Given the description of an element on the screen output the (x, y) to click on. 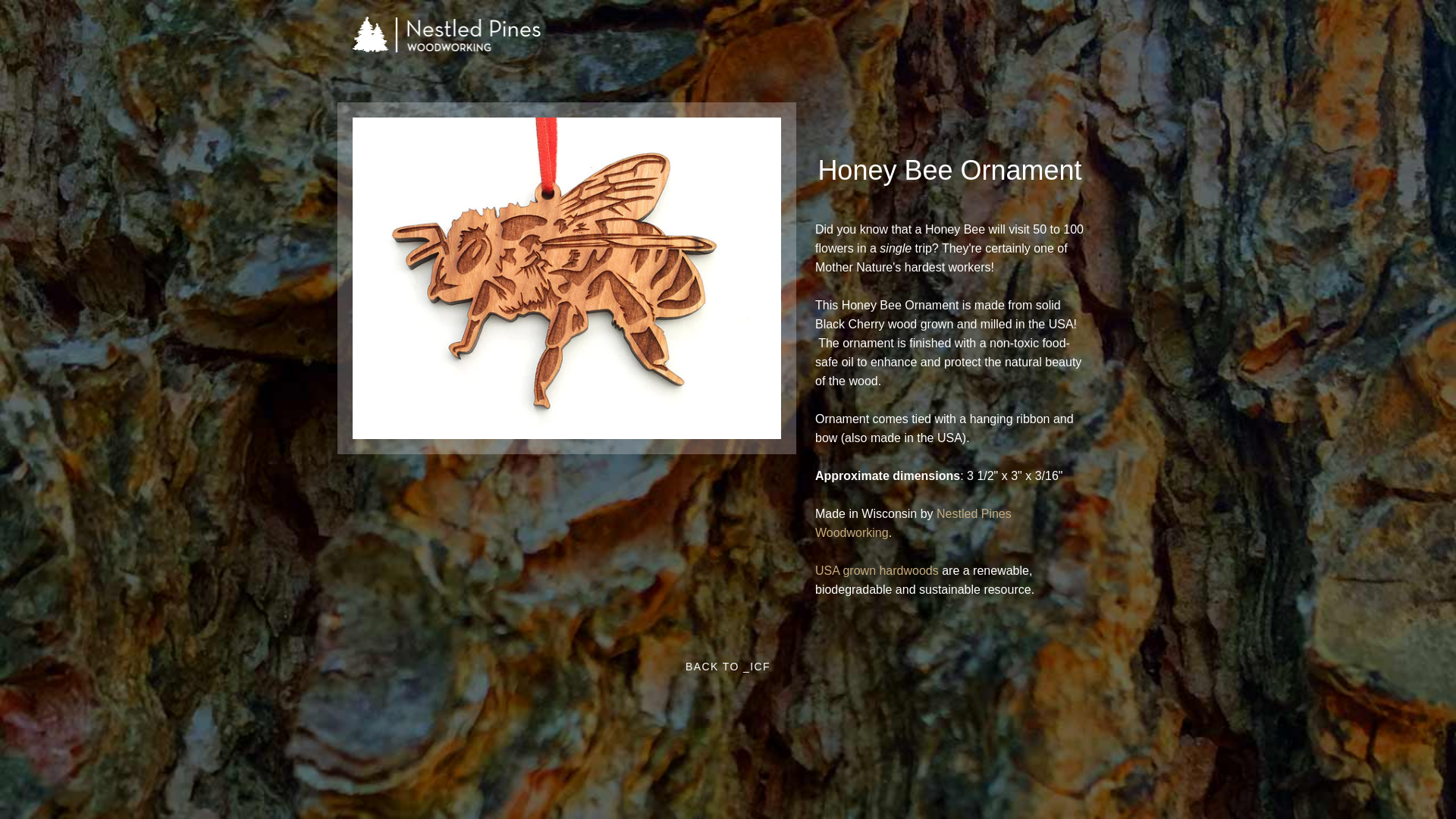
Nestled Pines Woodworking (913, 522)
USA grown hardwoods (877, 570)
Nestled Pines Woodworking (913, 522)
USA grown hardwoods (877, 570)
